Given the description of an element on the screen output the (x, y) to click on. 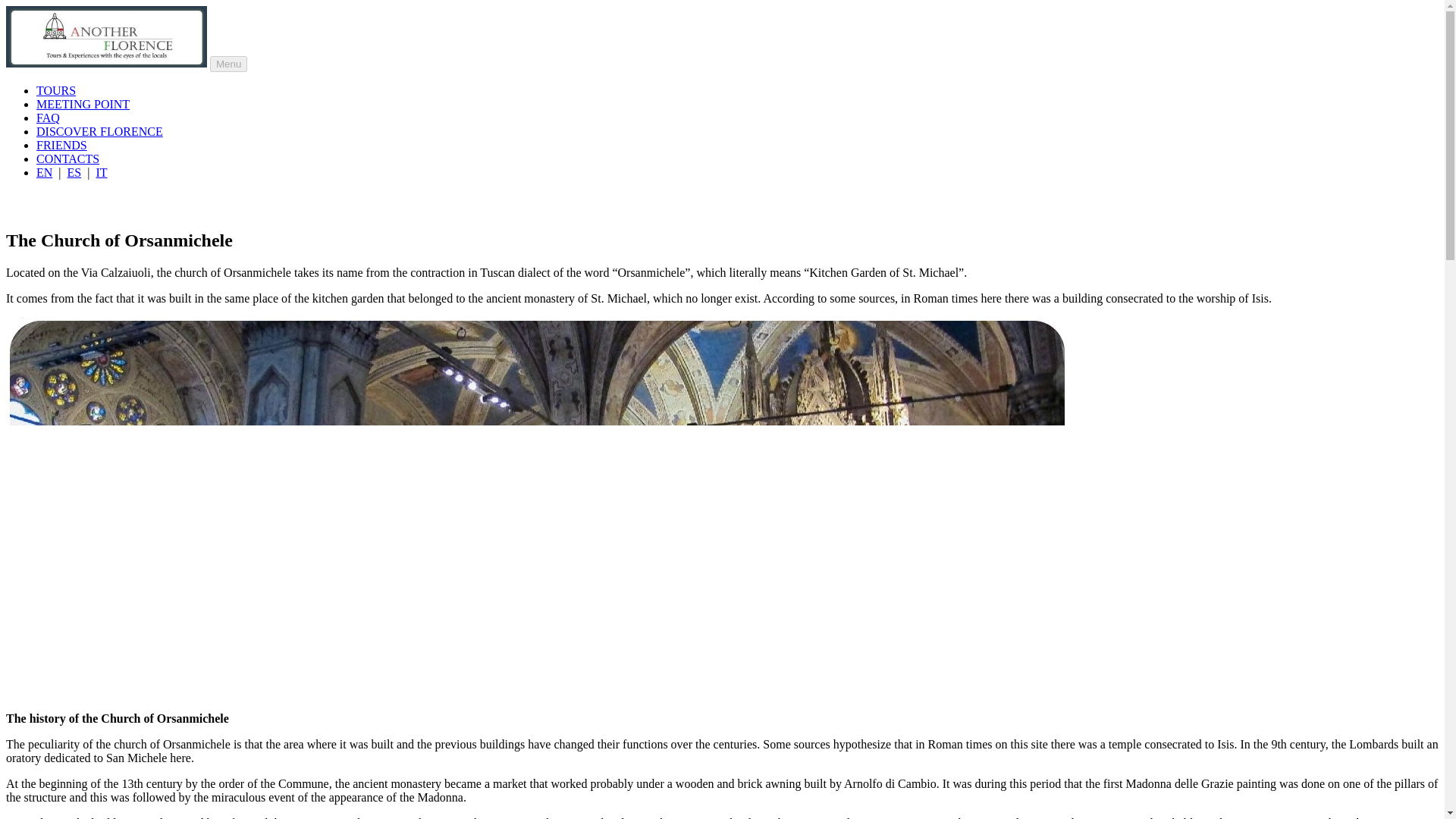
CONTACTS (67, 158)
FRIENDS (61, 144)
Menu (228, 64)
EN (44, 172)
TOURS (55, 90)
ES (73, 172)
DISCOVER FLORENCE (99, 131)
MEETING POINT (82, 103)
FAQ (47, 117)
